Given the description of an element on the screen output the (x, y) to click on. 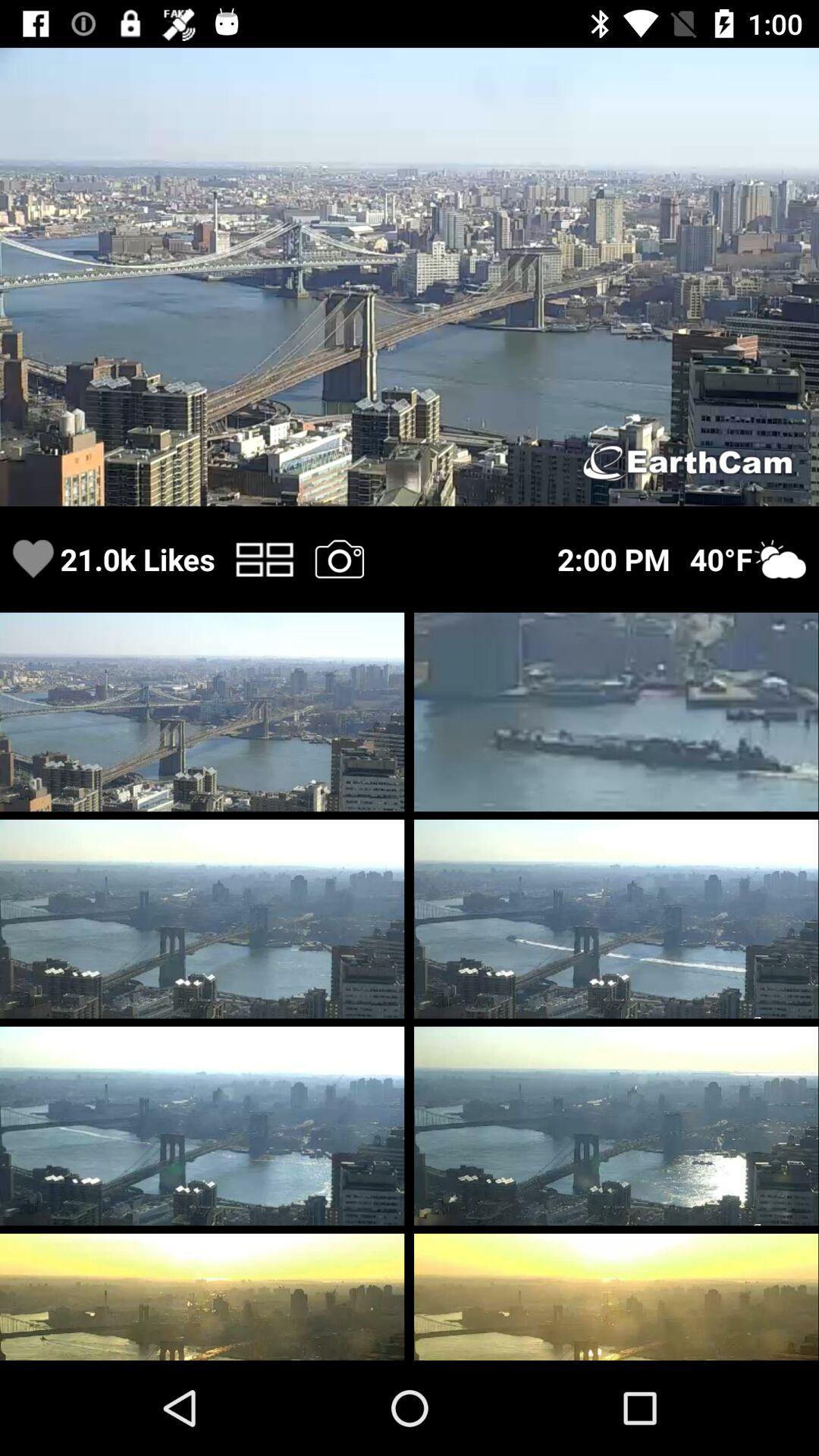
go to closed (339, 558)
